Given the description of an element on the screen output the (x, y) to click on. 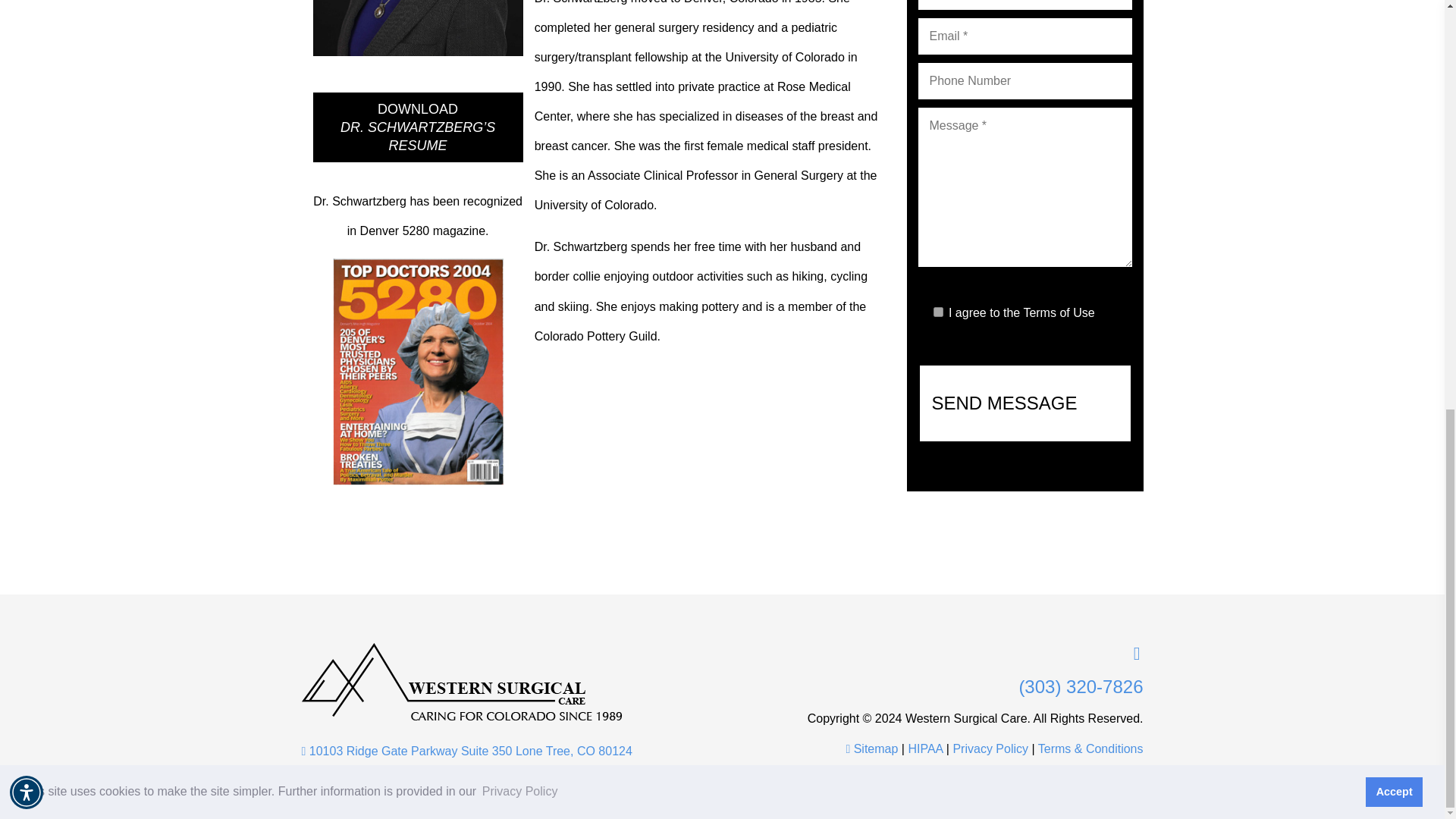
Privacy Policy (989, 748)
1 (937, 311)
Sitemap (871, 748)
SEND MESSAGE (1024, 403)
10103 Ridge Gate Parkway Suite 350 Lone Tree, CO 80124 (506, 757)
Terms of Use (1058, 312)
HIPAA (924, 748)
